Given the description of an element on the screen output the (x, y) to click on. 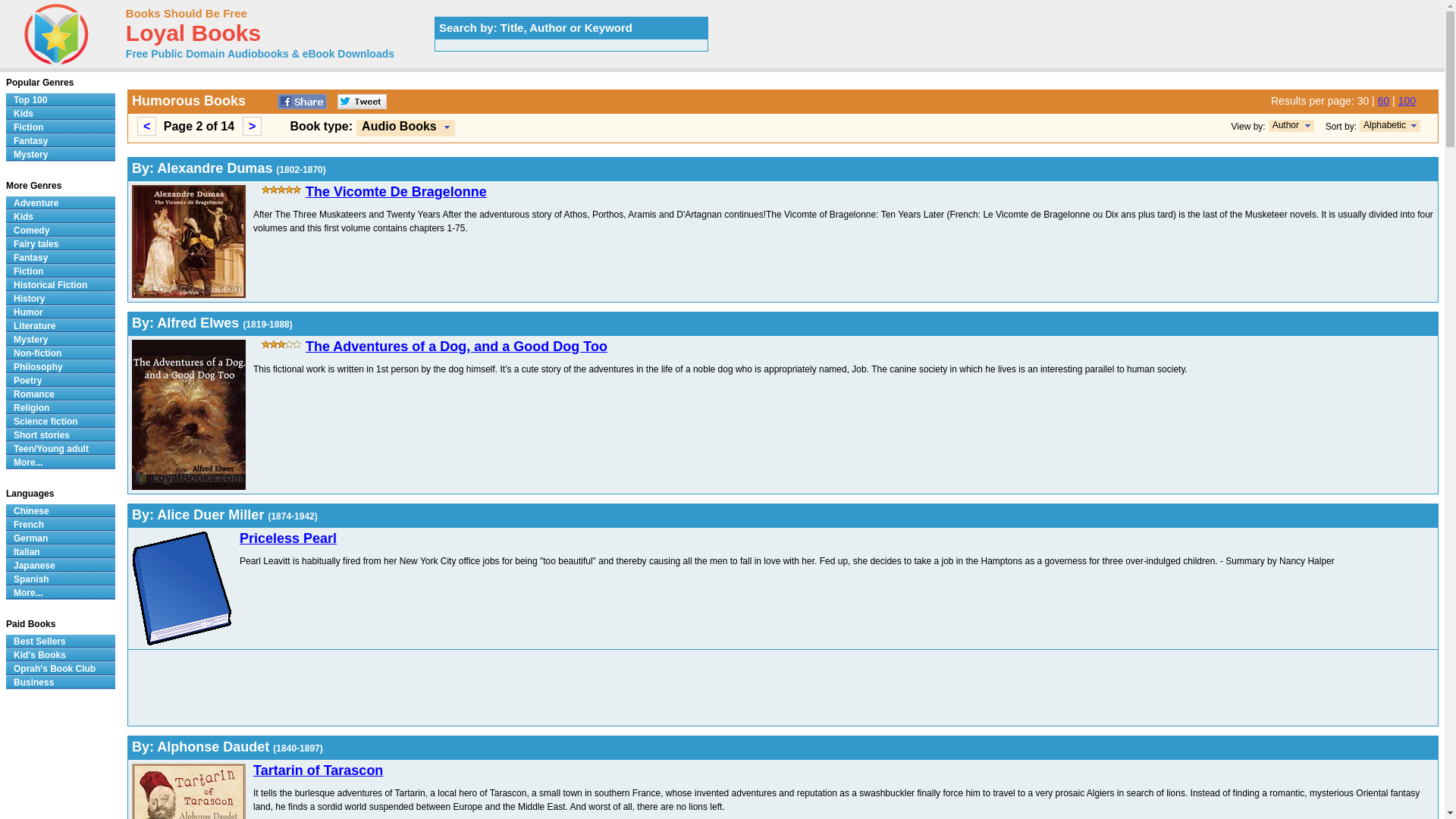
The Vicomte De Bragelonne (395, 191)
The Adventures of a Dog, and a Good Dog Too (456, 346)
Books Should Be Free (186, 12)
Audio Books (398, 126)
Tartarin of Tarascon (317, 770)
100 (1406, 101)
Loyal Books (192, 36)
Advertisement (587, 687)
Audio Books (405, 127)
Author (1285, 124)
Alphabetic (1384, 124)
Priceless Pearl (288, 538)
60 (1383, 101)
Author (1291, 125)
Alphabetic (1390, 125)
